Given the description of an element on the screen output the (x, y) to click on. 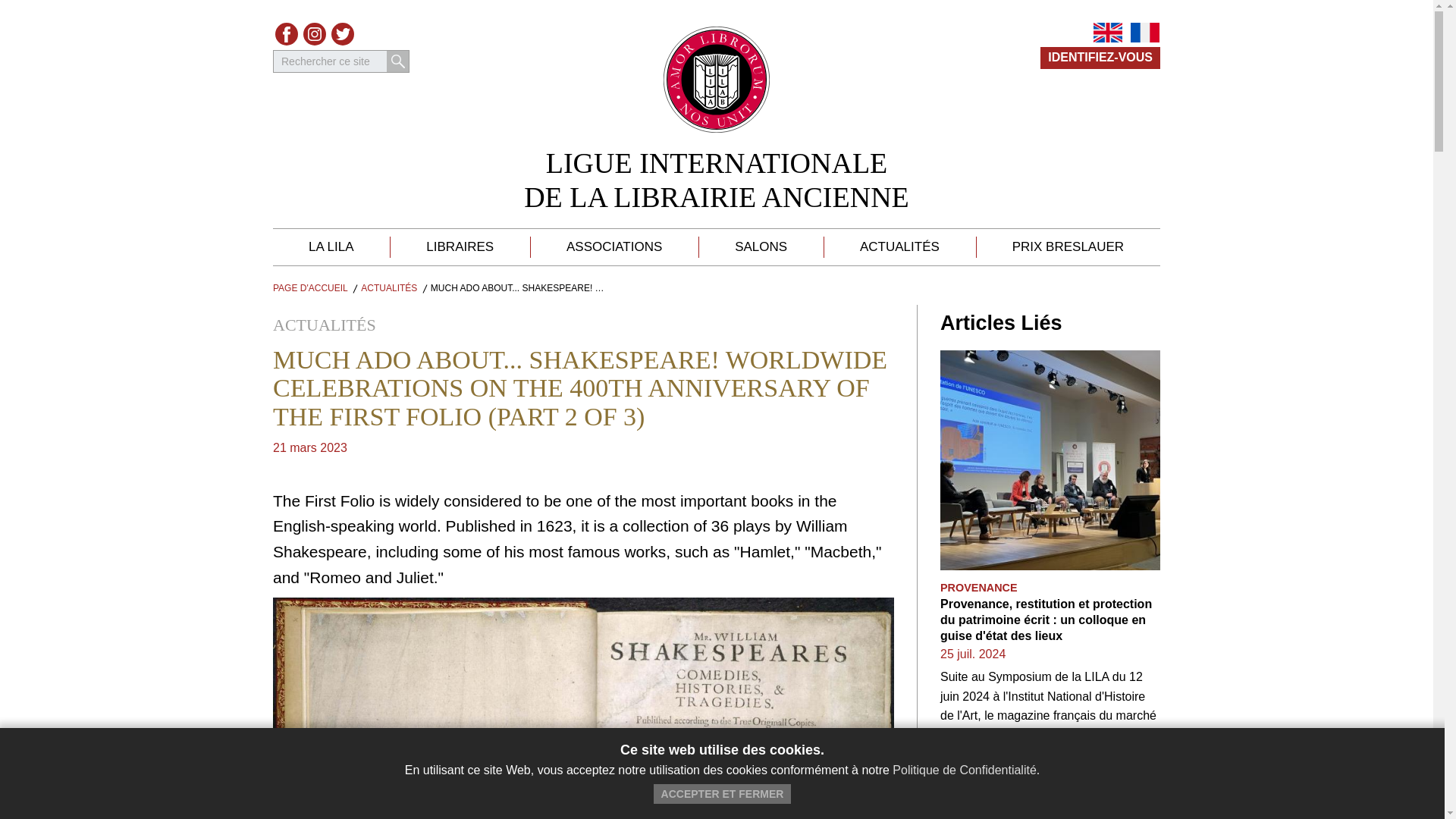
Visitez notre page Facebook (286, 33)
Twitter (342, 33)
ACCEPTER ET FERMER (716, 180)
PRIX BRESLAUER (722, 793)
Instagram (1067, 246)
PAGE D'ACCUEIL (314, 33)
ASSOCIATIONS (310, 287)
SALONS (613, 246)
LA LILA (761, 246)
FR (331, 246)
EN (1144, 32)
Facebook (1107, 32)
Voir nos messages Twitter (286, 33)
RECHERCHER (342, 33)
